Given the description of an element on the screen output the (x, y) to click on. 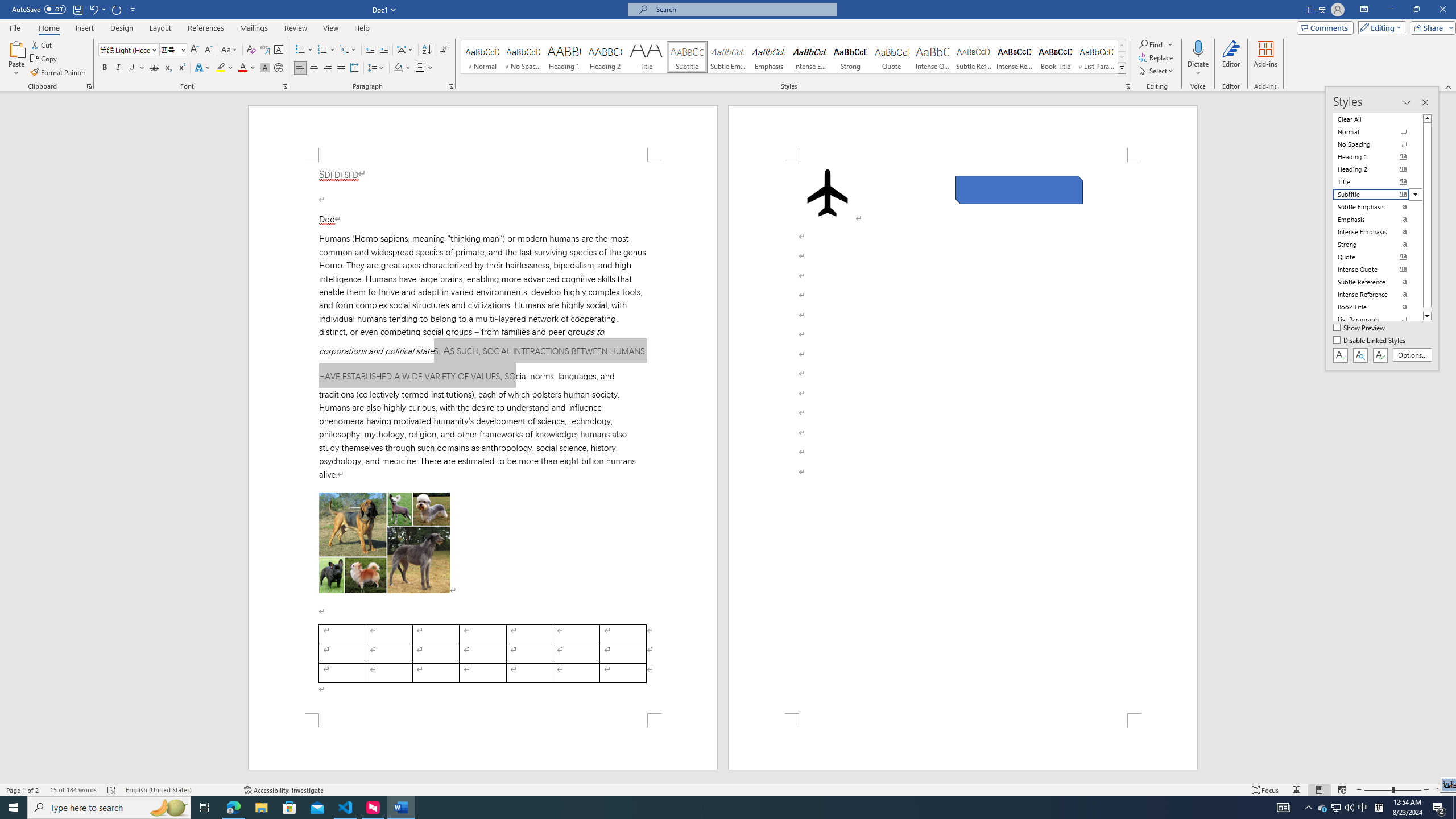
Page 1 content (482, 437)
Zoom (1392, 790)
Spelling and Grammar Check Errors (111, 790)
Numbering (322, 49)
Numbering (326, 49)
Borders (419, 67)
Collapse the Ribbon (1448, 86)
List Paragraph (1377, 319)
Sort... (426, 49)
Focus  (1265, 790)
Styles (1121, 67)
